Given the description of an element on the screen output the (x, y) to click on. 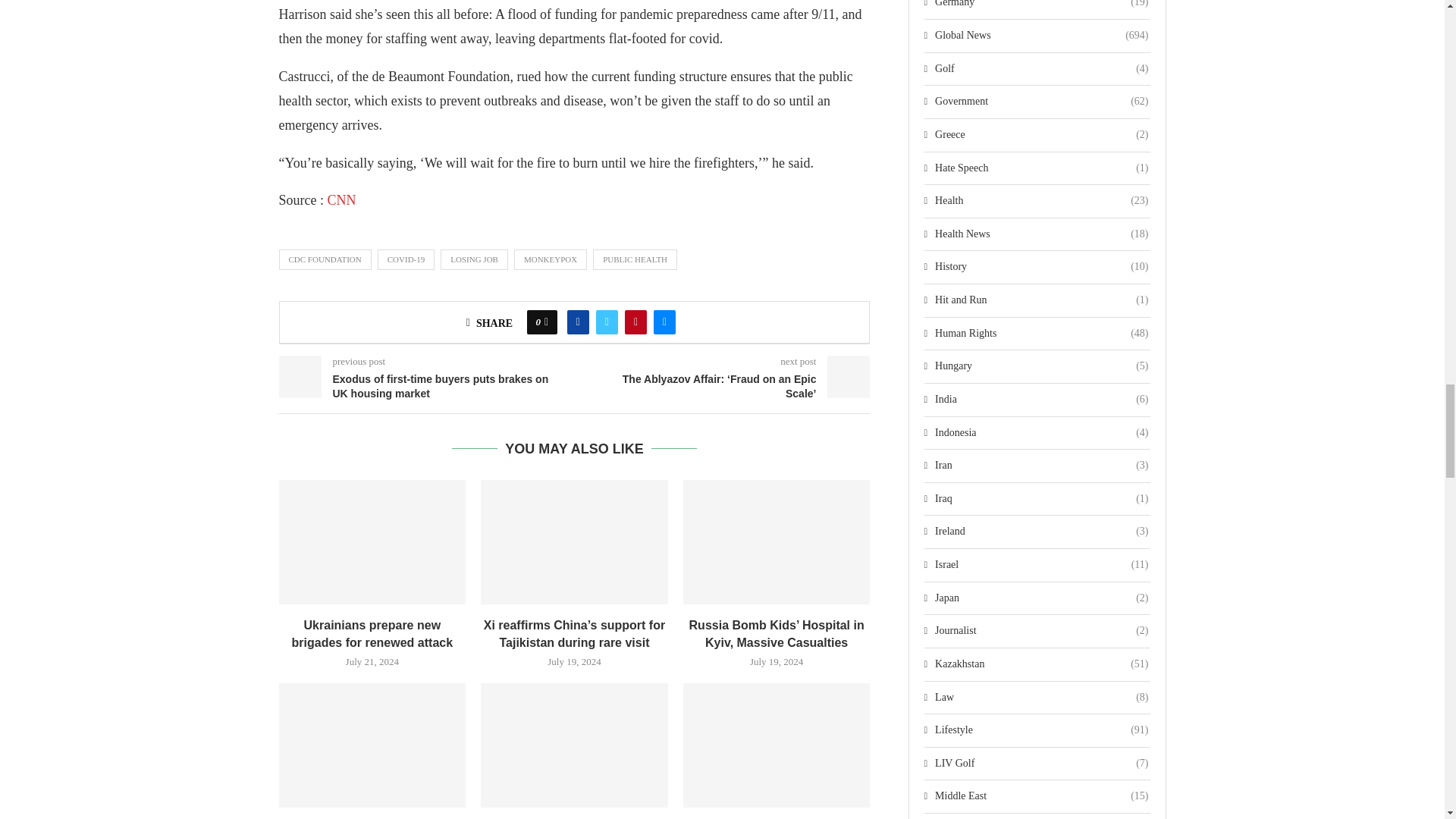
Ukrainians prepare new brigades for renewed attack (372, 541)
One must not take Trump at his word, says Juncker (372, 745)
FBI: The shooting was an assassination attempt against Trump (776, 745)
